Given the description of an element on the screen output the (x, y) to click on. 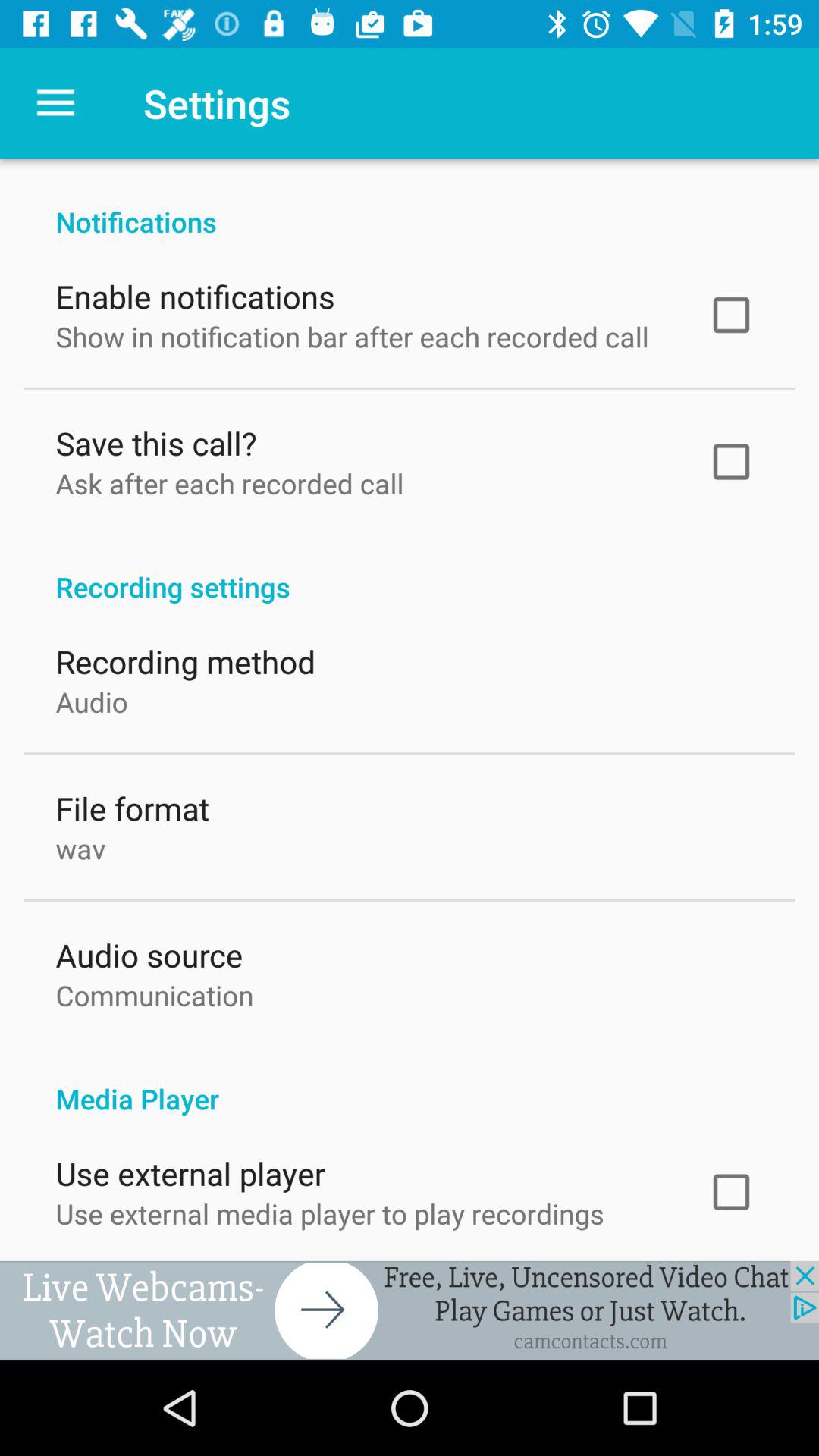
press the recording method icon (185, 657)
